Given the description of an element on the screen output the (x, y) to click on. 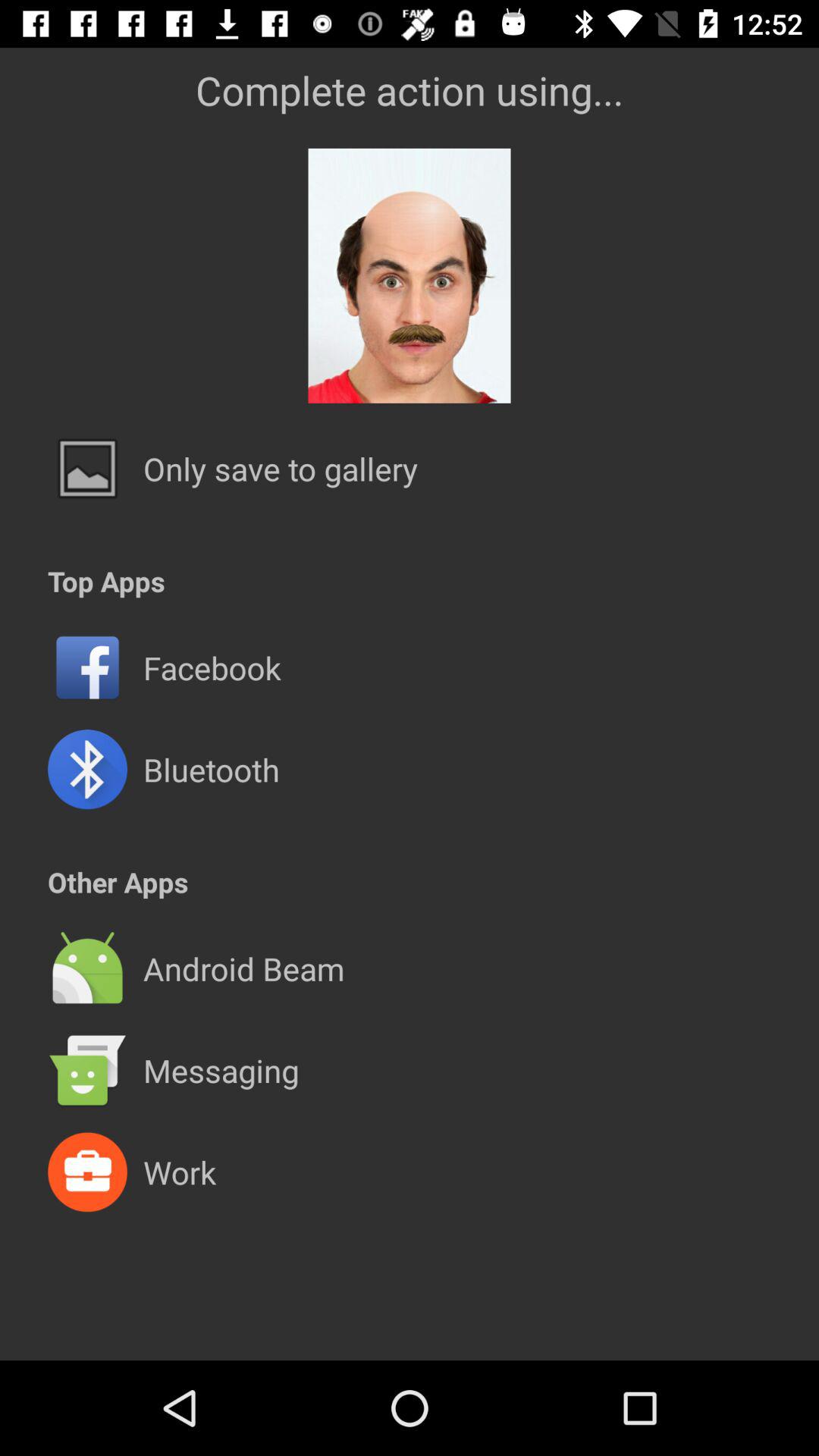
scroll to bluetooth item (211, 769)
